Given the description of an element on the screen output the (x, y) to click on. 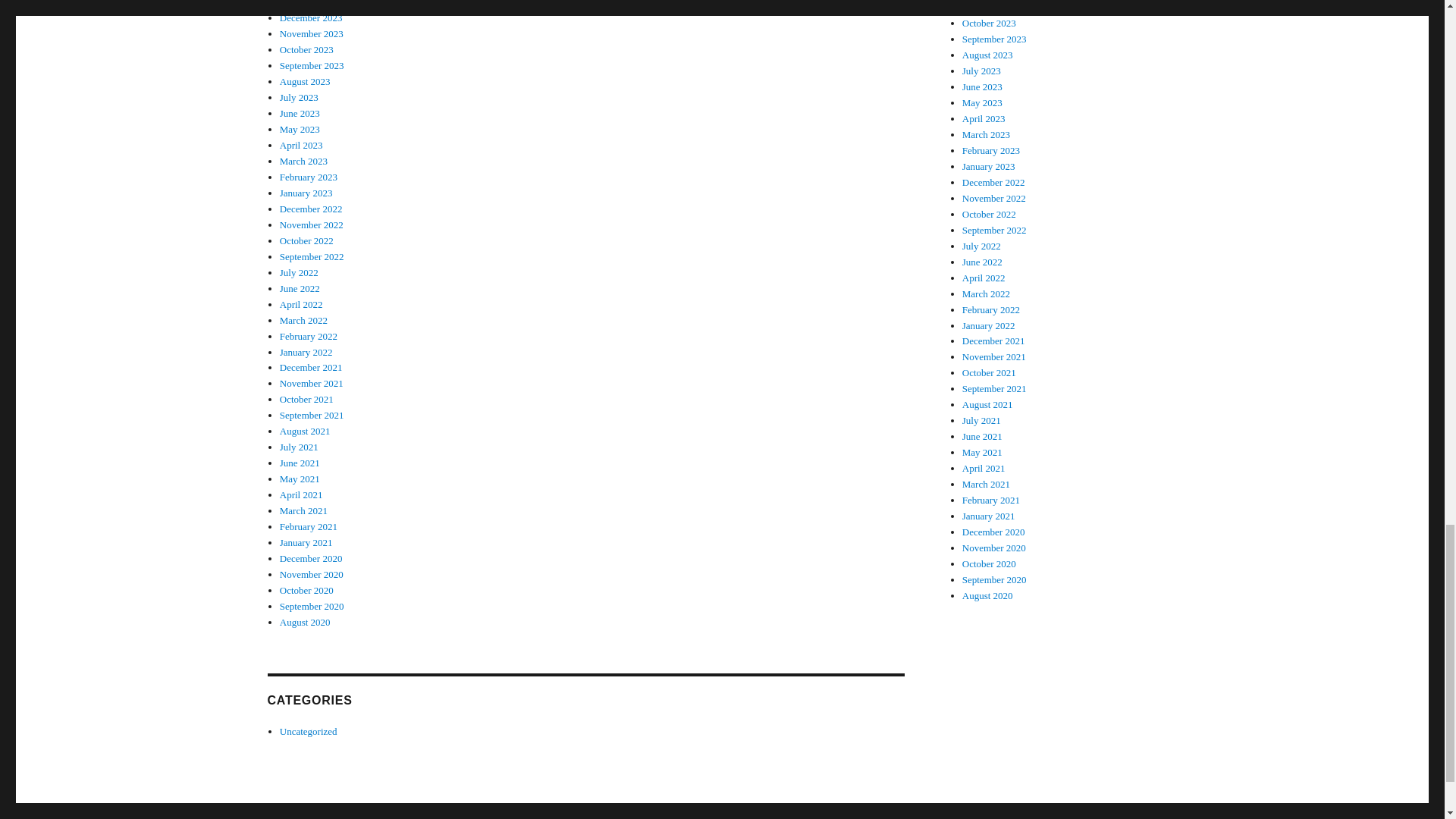
June 2022 (299, 288)
April 2022 (301, 304)
December 2023 (310, 17)
December 2022 (310, 208)
November 2022 (311, 224)
October 2023 (306, 49)
January 2023 (306, 193)
January 2022 (306, 351)
November 2023 (311, 33)
May 2023 (299, 129)
